Given the description of an element on the screen output the (x, y) to click on. 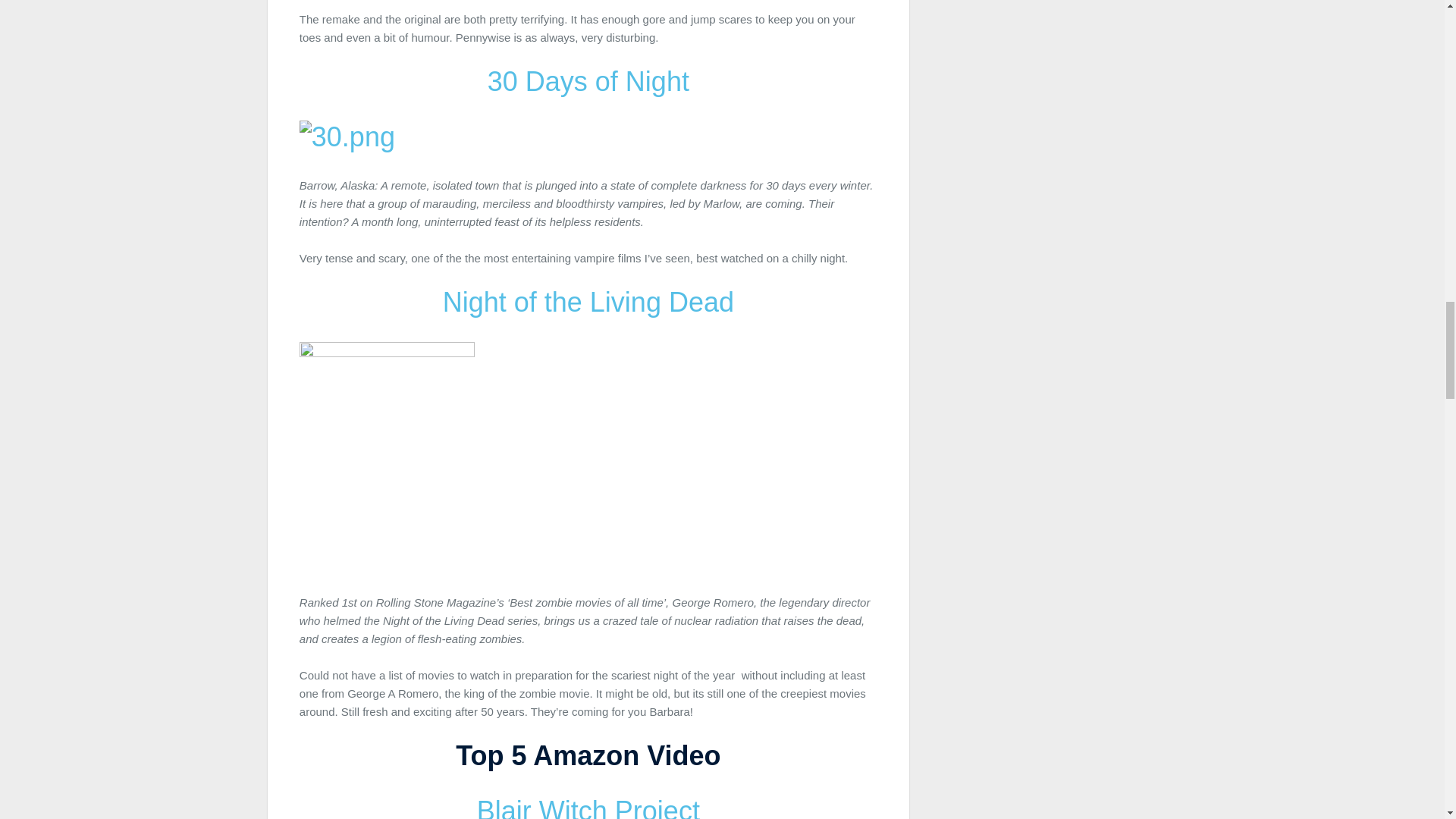
30 Days of Night (587, 81)
Night of the Living Dead (587, 301)
Blair Witch Project (588, 807)
